Given the description of an element on the screen output the (x, y) to click on. 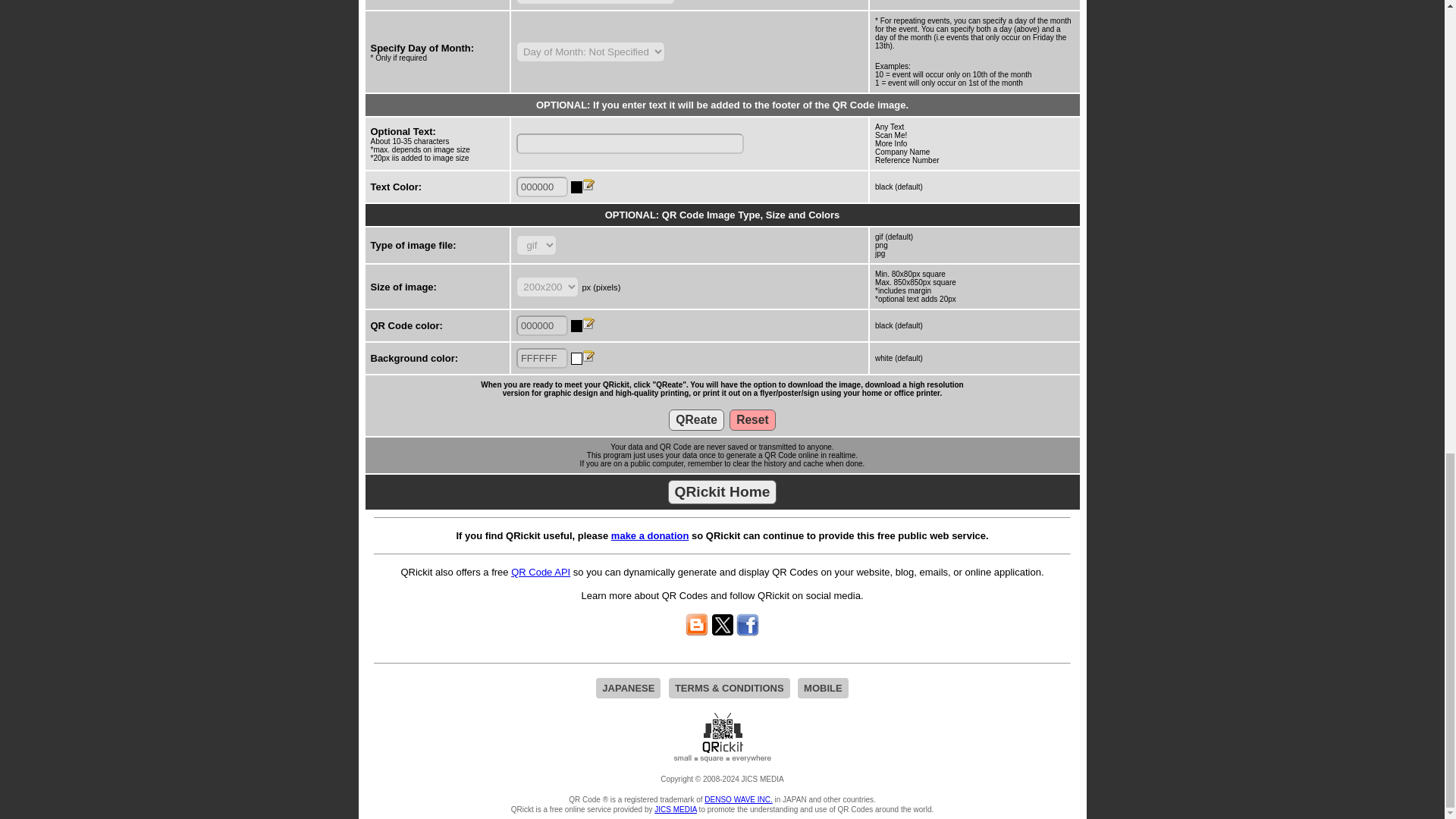
000000 (541, 325)
JAPANESE (628, 688)
QReate (695, 419)
make a donation (649, 535)
JICS MEDIA (675, 809)
Reset (751, 419)
FFFFFF (541, 358)
000000 (541, 186)
MOBILE (822, 688)
QReate (695, 419)
QR Code API (540, 572)
DENSO WAVE INC. (737, 799)
